Given the description of an element on the screen output the (x, y) to click on. 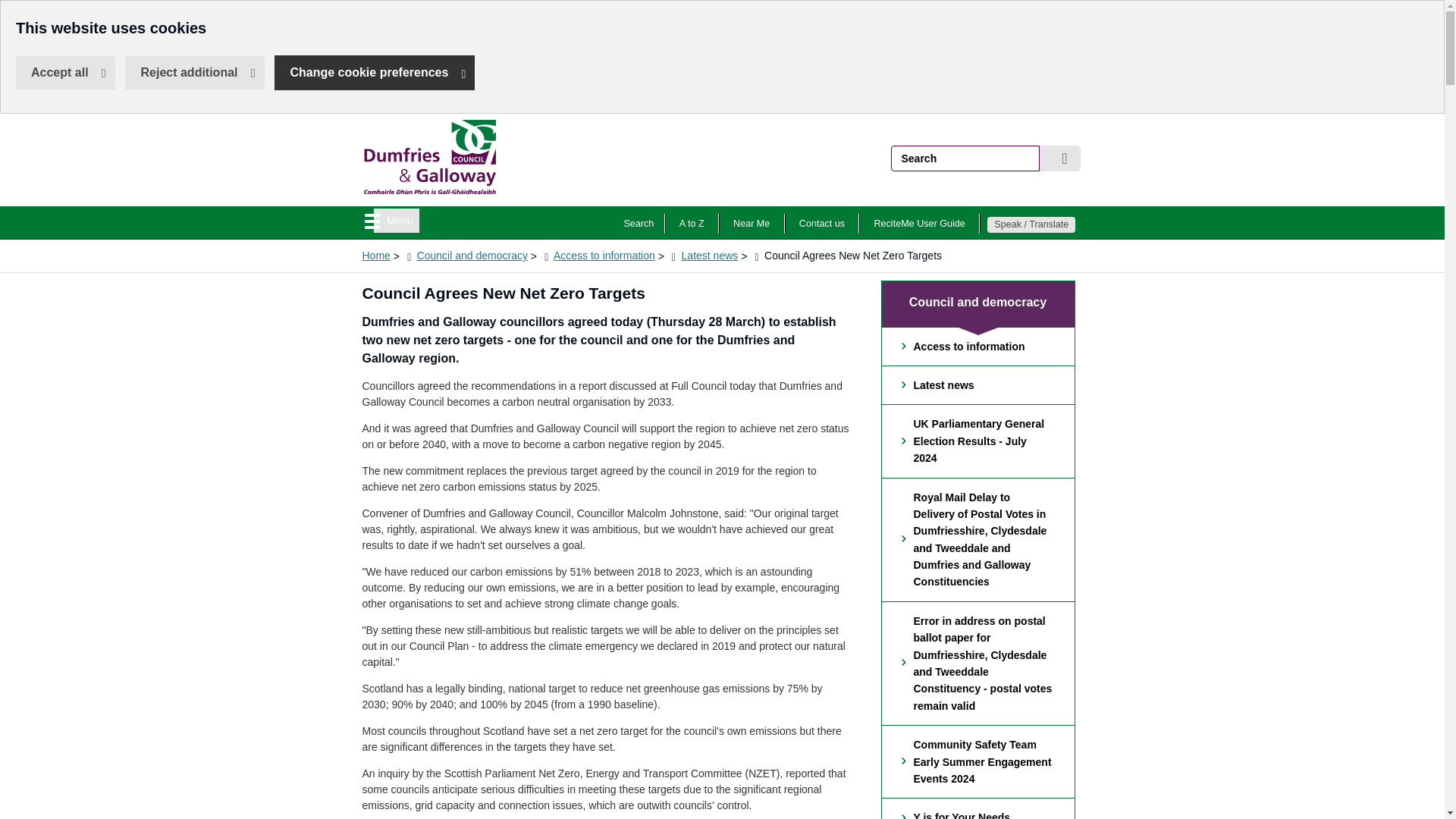
Search (395, 220)
Search this website (639, 223)
Reject additional (1059, 158)
Skip to main content (194, 72)
Link to homepage (11, 11)
Near Me (430, 190)
Accept all (751, 223)
A to Z (65, 72)
ReciteMe User Guide (691, 223)
Contact us (919, 223)
Change cookie preferences (821, 223)
